Given the description of an element on the screen output the (x, y) to click on. 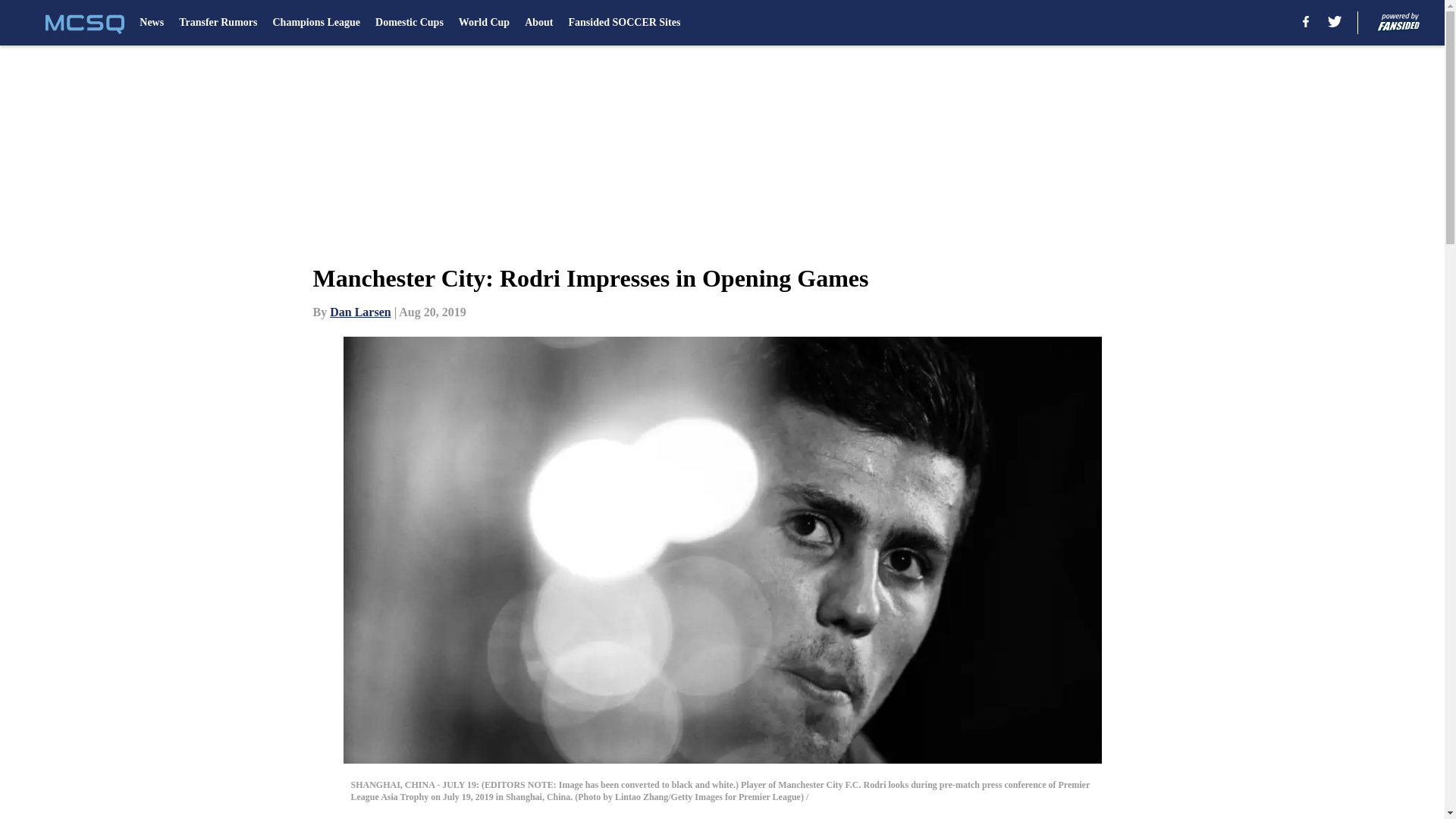
Fansided SOCCER Sites (625, 22)
News (151, 22)
World Cup (483, 22)
About (538, 22)
Champions League (315, 22)
Dan Larsen (360, 311)
Domestic Cups (409, 22)
Transfer Rumors (218, 22)
